Given the description of an element on the screen output the (x, y) to click on. 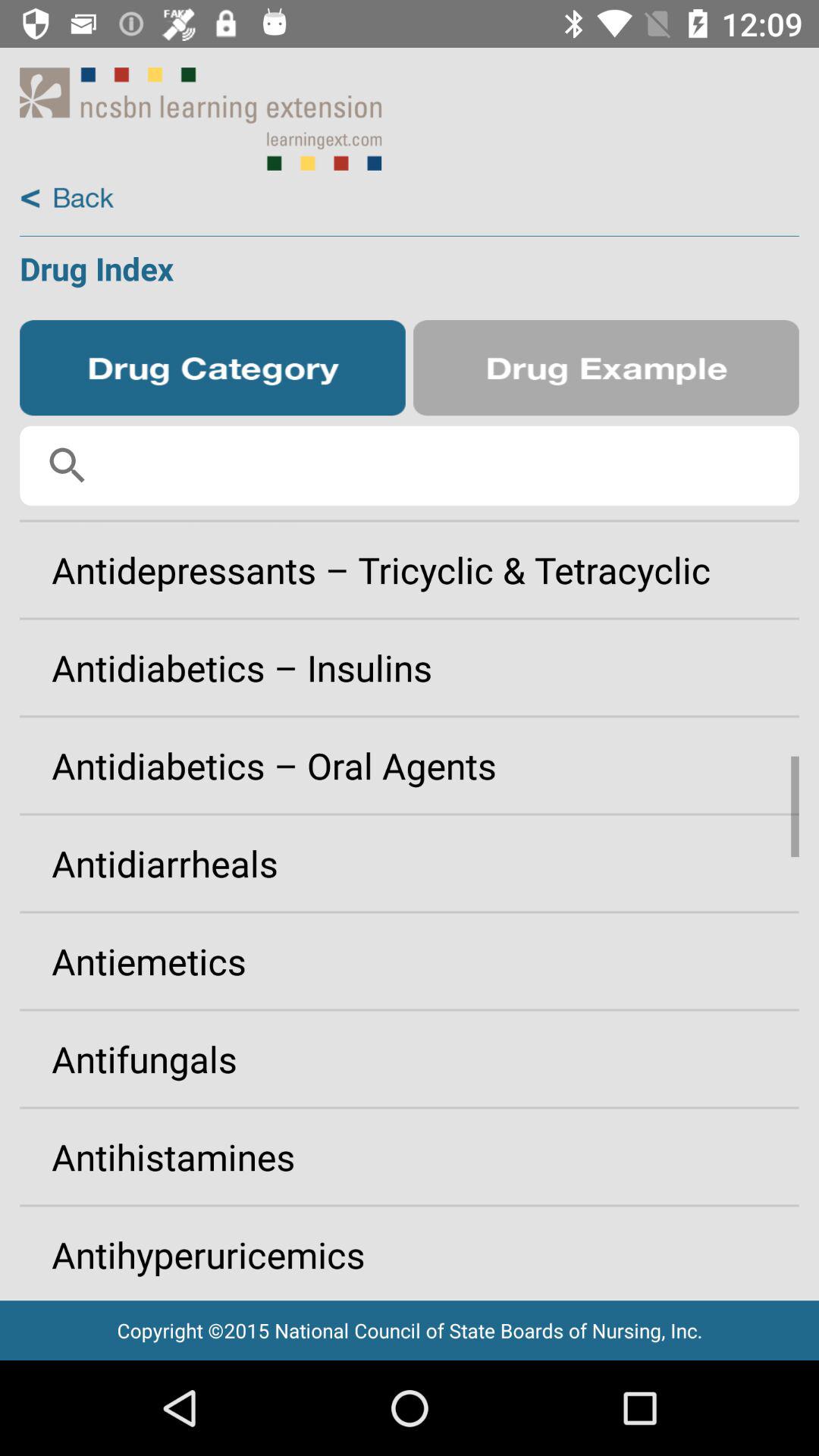
choose item below the antidiarrheals item (409, 960)
